Given the description of an element on the screen output the (x, y) to click on. 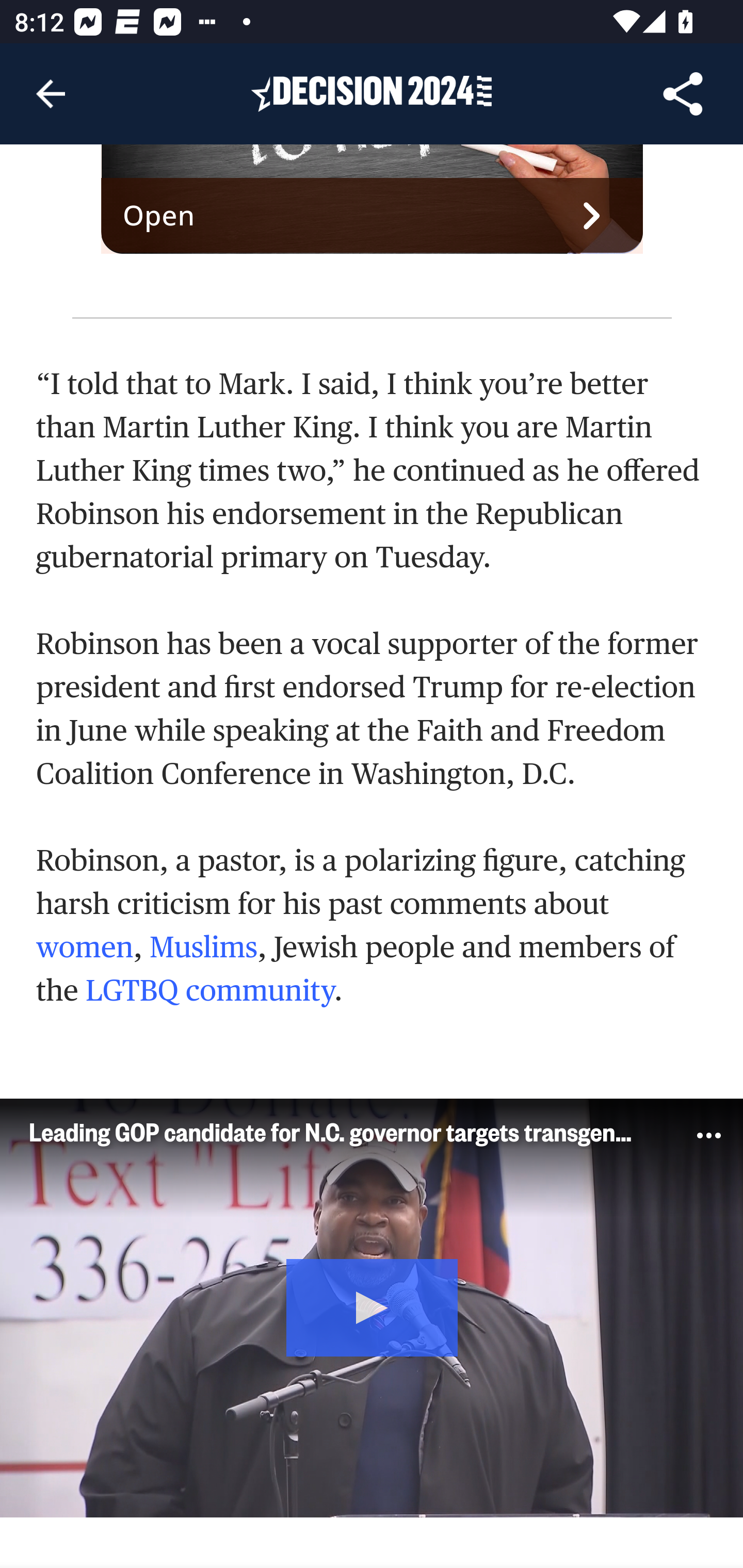
Navigate up (50, 93)
Share Article, button (683, 94)
Header, Decision 2024 (371, 93)
Open (372, 215)
women (84, 947)
Muslims (202, 947)
LGTBQ community (209, 990)
Play (371, 1307)
Play (372, 1305)
